Given the description of an element on the screen output the (x, y) to click on. 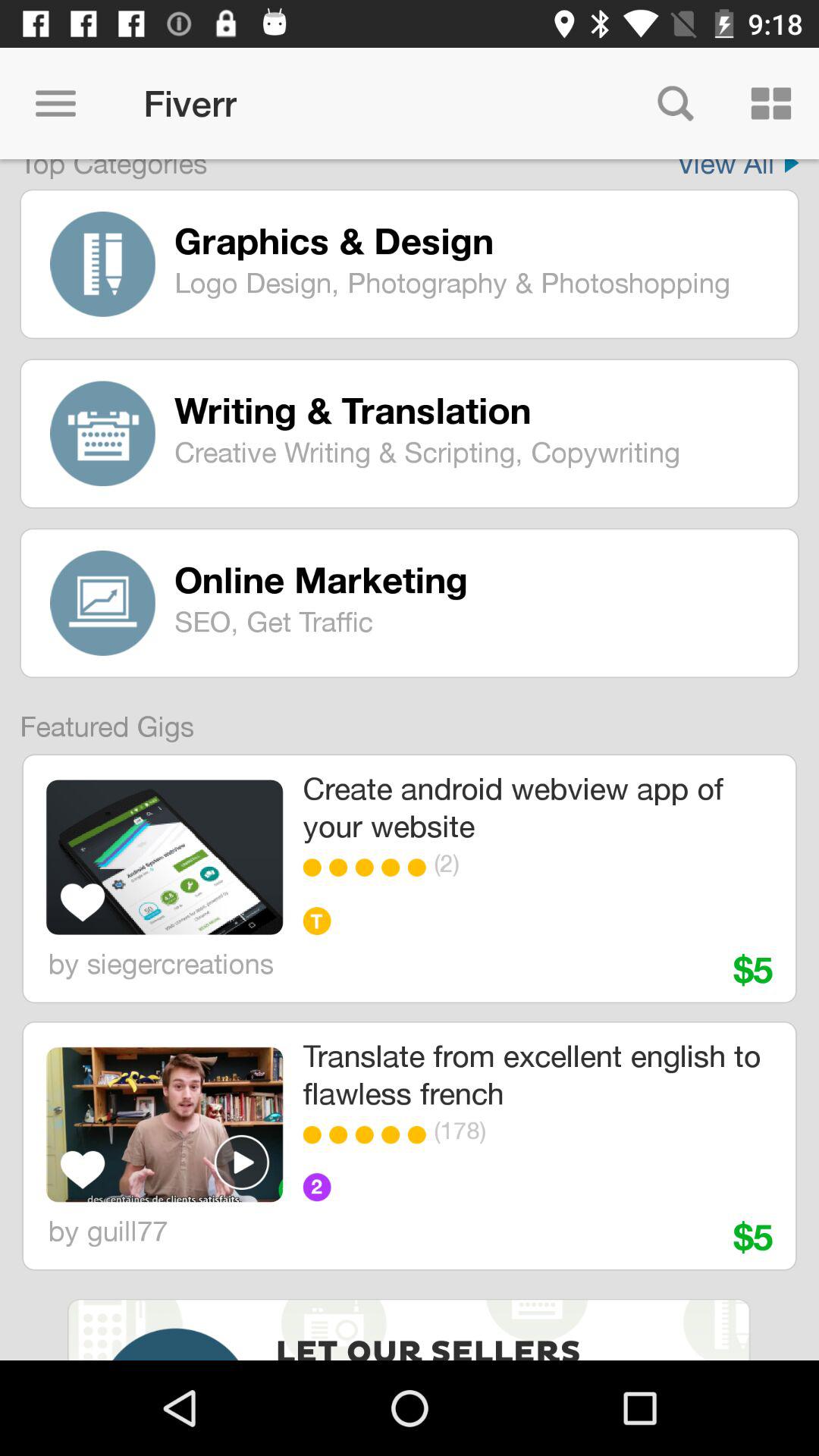
scroll to let our sellers item (432, 1346)
